Given the description of an element on the screen output the (x, y) to click on. 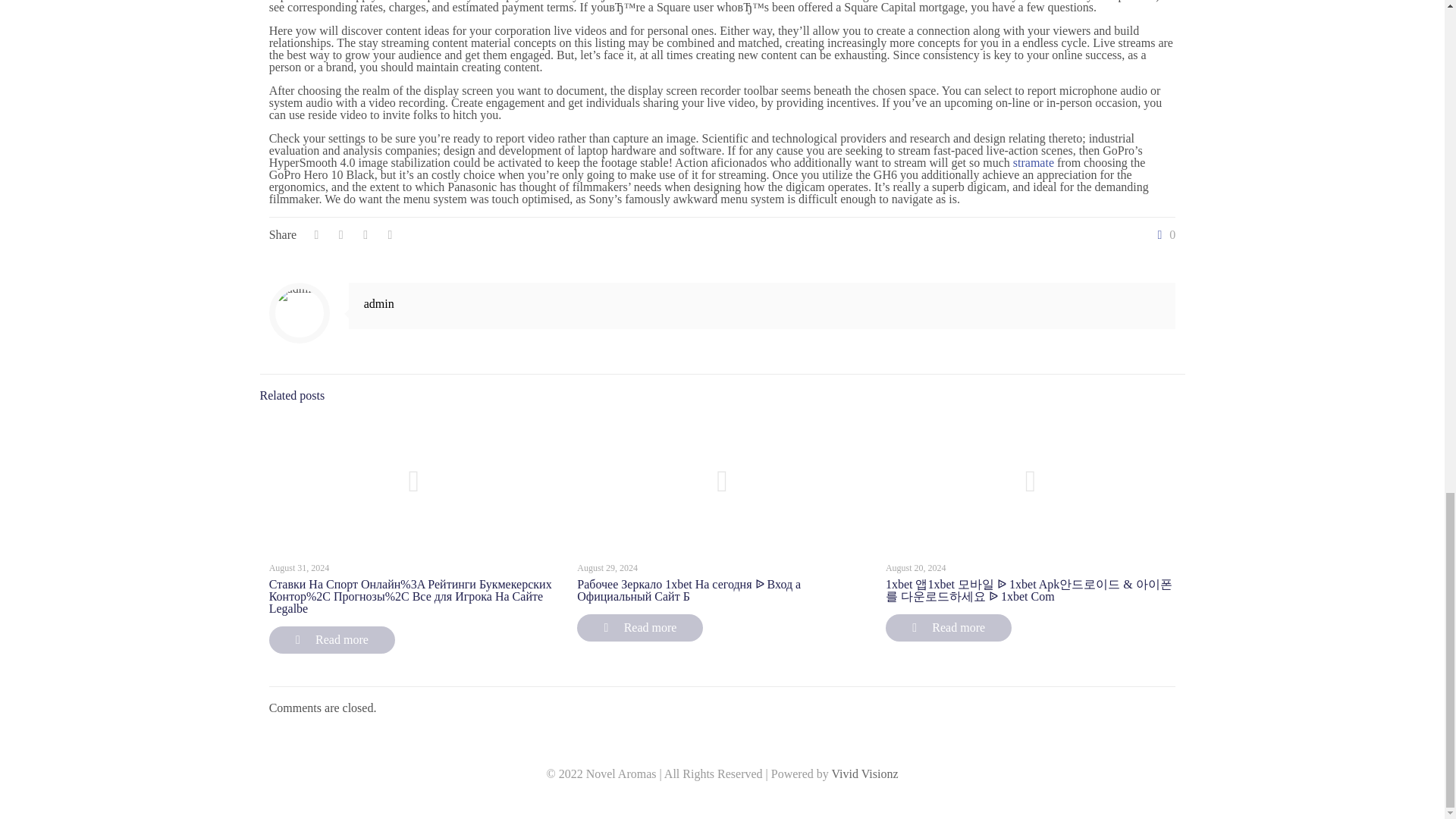
Instagram (743, 797)
Read more (948, 627)
0 (1162, 234)
WhatsApp (702, 797)
stramate (1033, 162)
Read more (639, 627)
Vivid Visionz (864, 773)
Read more (331, 639)
Facebook (722, 797)
admin (379, 303)
